Given the description of an element on the screen output the (x, y) to click on. 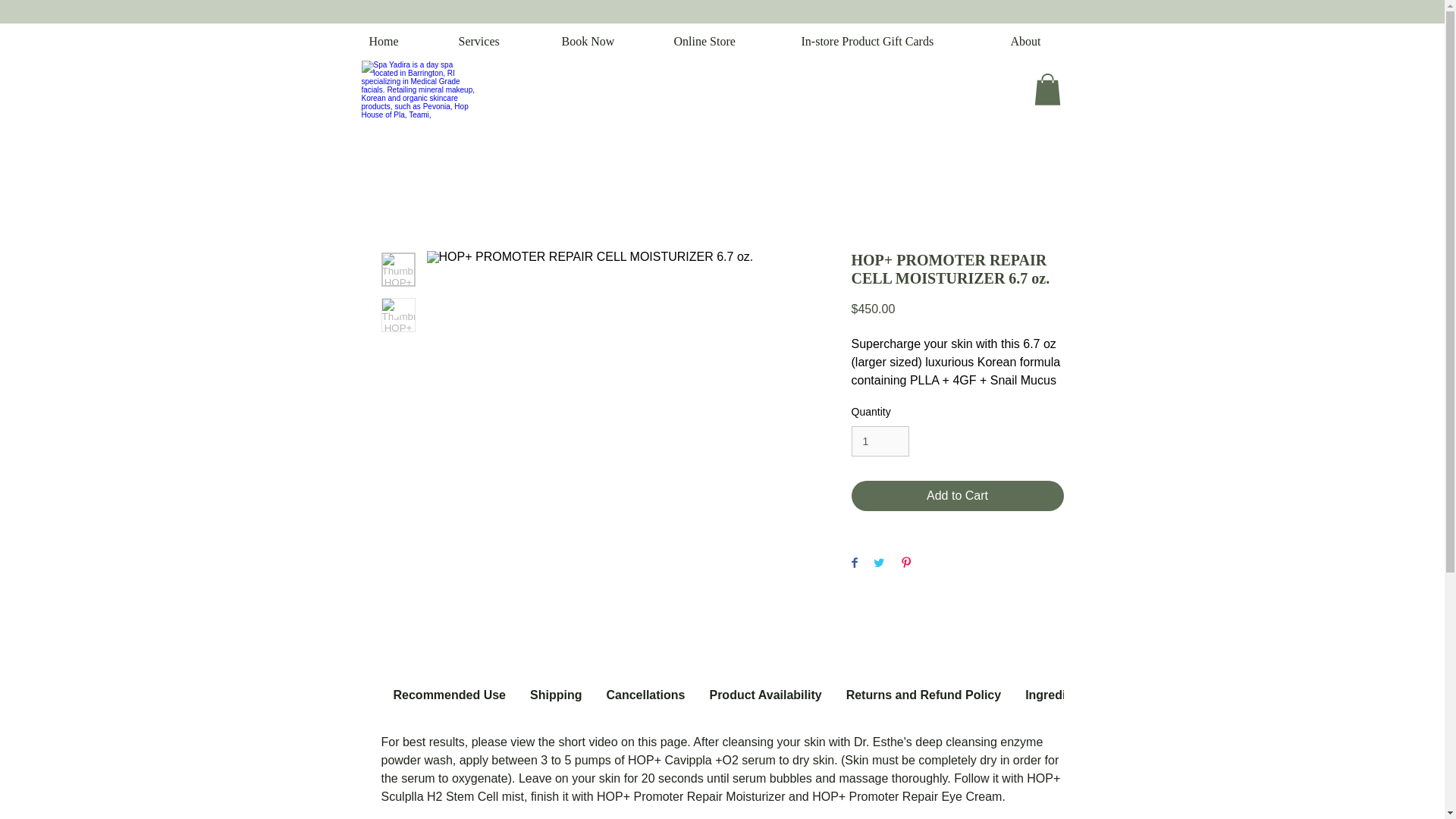
Add to Cart (956, 495)
Use right and left arrows to navigate between tabs (555, 695)
About (1042, 41)
Book Now (606, 41)
Services (498, 41)
Use right and left arrows to navigate between tabs (1057, 695)
Use right and left arrows to navigate between tabs (645, 695)
Use right and left arrows to navigate between tabs (923, 695)
Online Store (726, 41)
Use right and left arrows to navigate between tabs (764, 695)
